Given the description of an element on the screen output the (x, y) to click on. 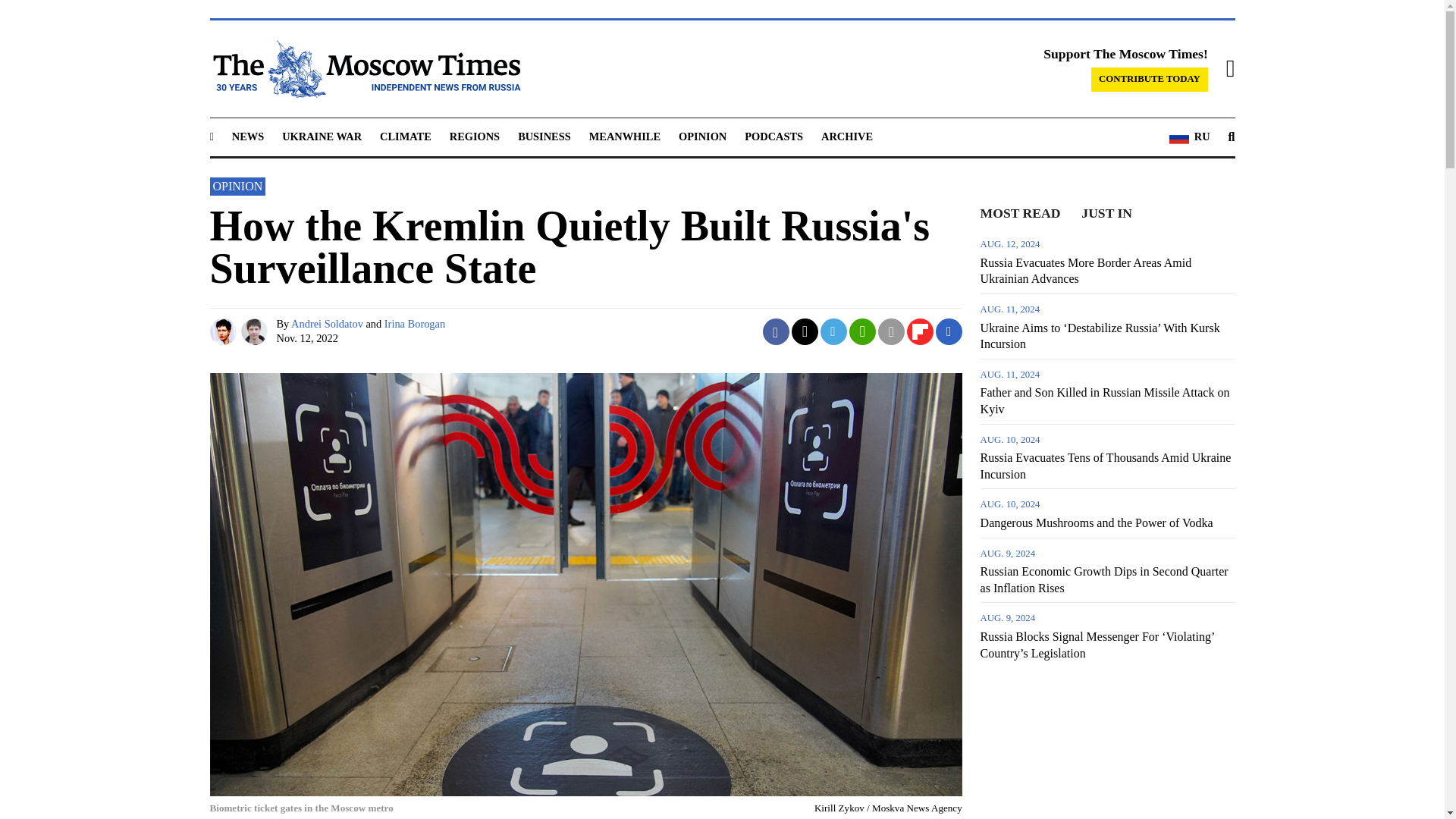
MEANWHILE (625, 136)
NEWS (247, 136)
RU (1189, 137)
Irina Borogan (256, 331)
ARCHIVE (846, 136)
Andrei Soldatov (224, 331)
The Moscow Times - Independent News from Russia (364, 68)
Share on Telegram (834, 331)
Share on Twitter (805, 331)
CLIMATE (405, 136)
